Given the description of an element on the screen output the (x, y) to click on. 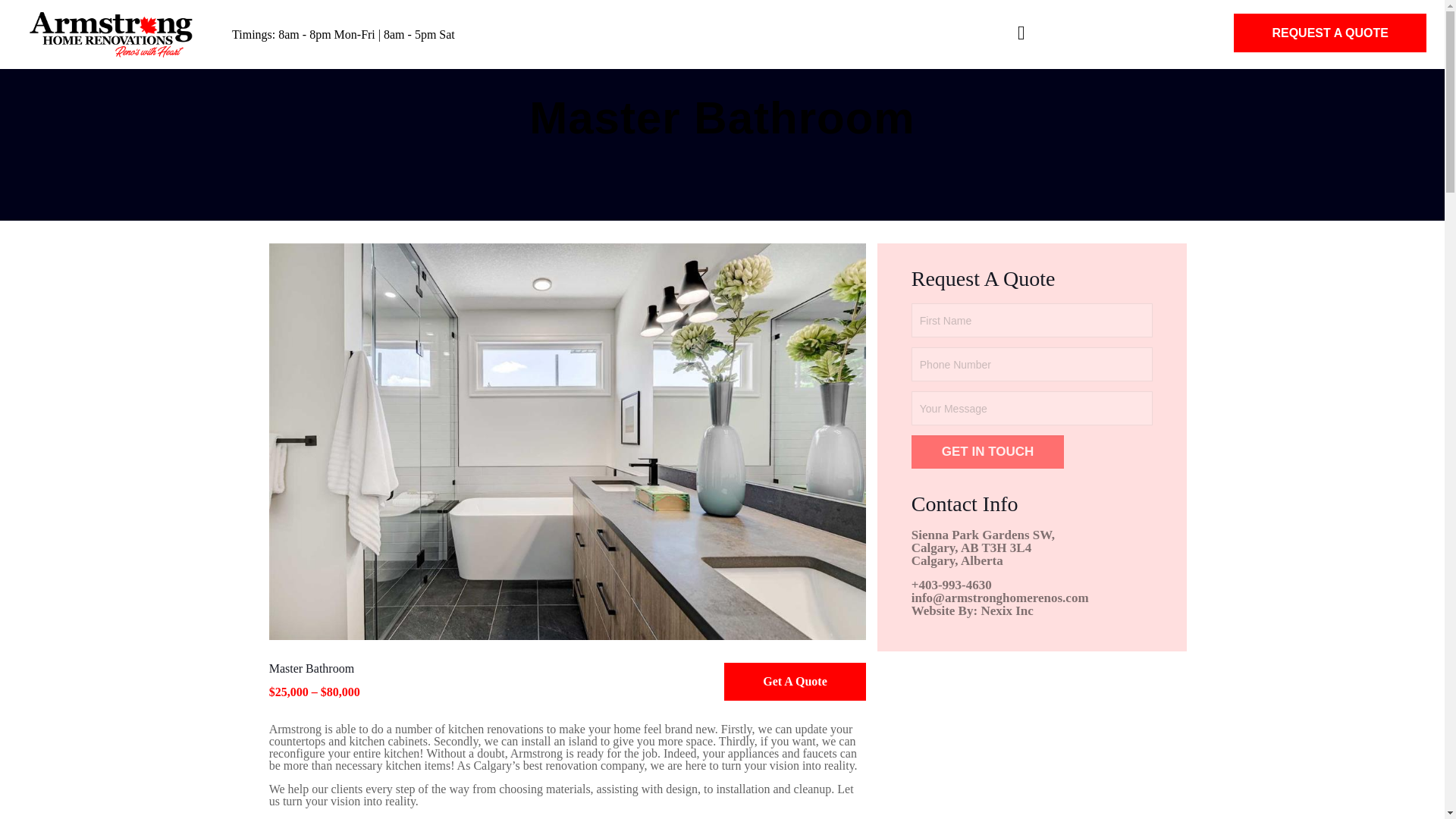
Get A Quote (793, 681)
Nexix Inc (1005, 597)
Contact Us (793, 681)
GET IN TOUCH (987, 451)
Armstrong (110, 33)
REQUEST A QUOTE (1329, 32)
GET IN TOUCH (987, 452)
